Given the description of an element on the screen output the (x, y) to click on. 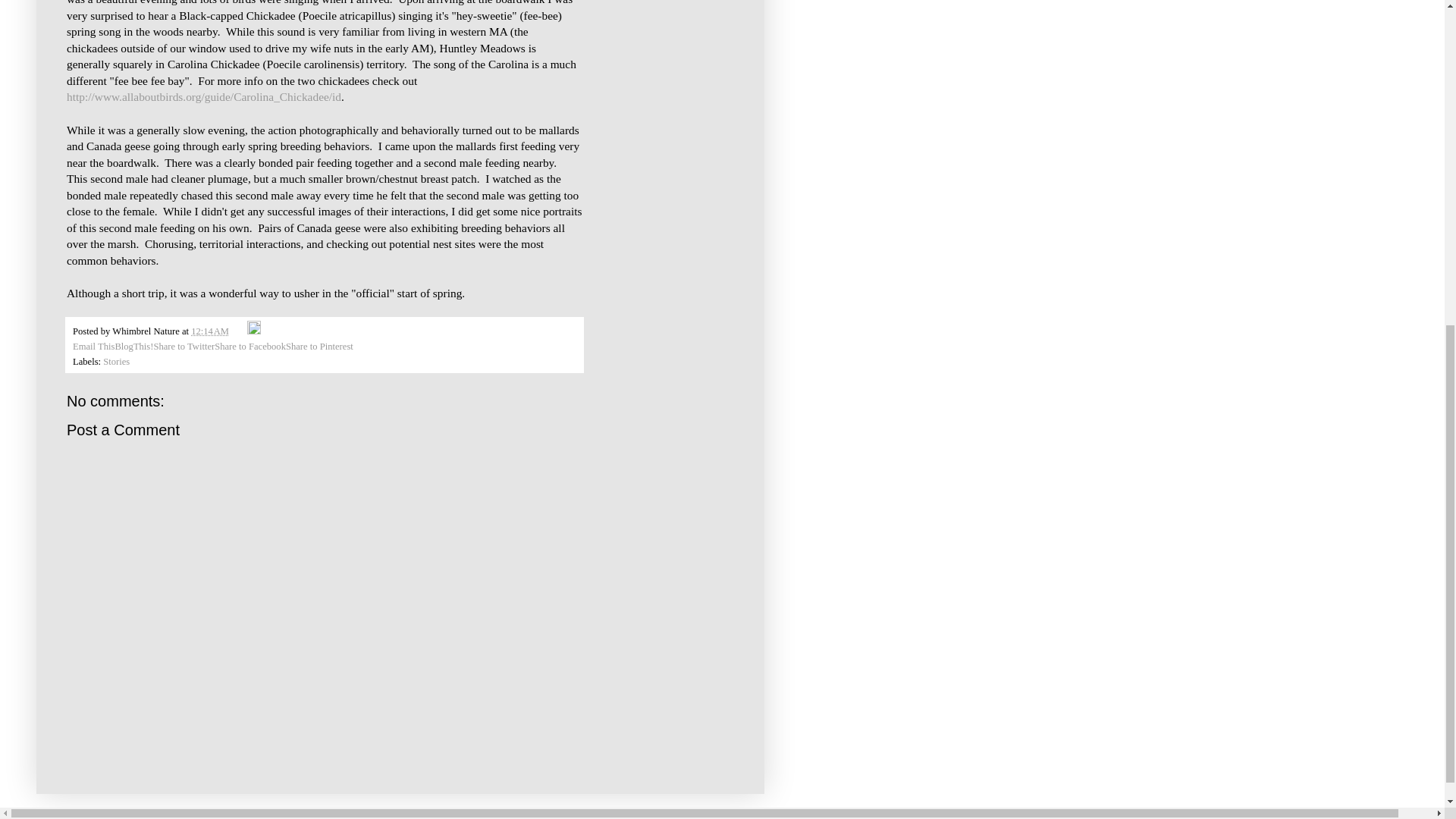
Email Post (239, 330)
Email This (93, 346)
permanent link (209, 330)
Share to Twitter (183, 346)
Stories (116, 361)
Share to Pinterest (319, 346)
Share to Pinterest (319, 346)
BlogThis! (133, 346)
Email This (93, 346)
Edit Post (253, 330)
BlogThis! (133, 346)
Share to Twitter (183, 346)
Share to Facebook (249, 346)
Share to Facebook (249, 346)
